Given the description of an element on the screen output the (x, y) to click on. 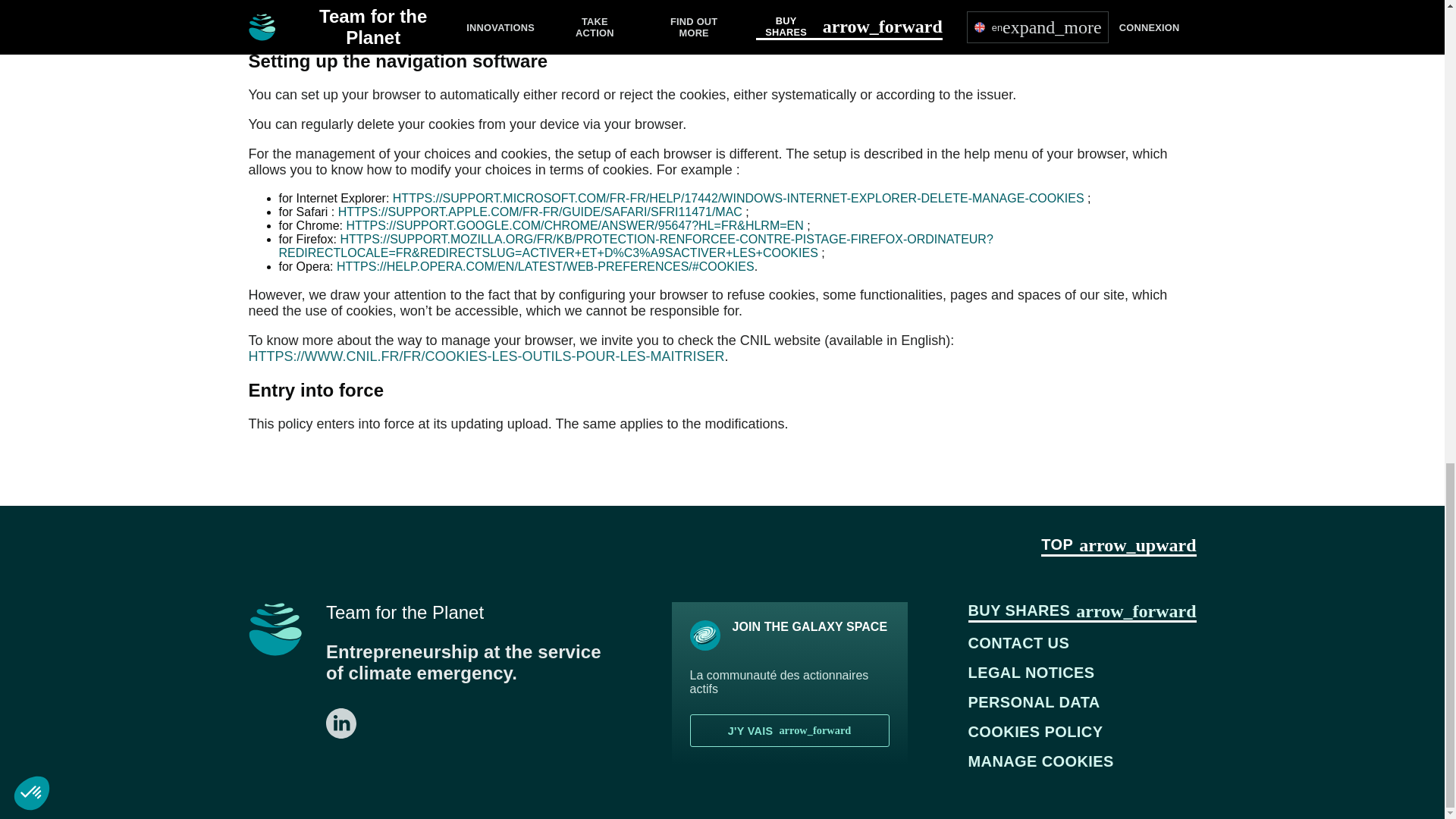
translation missing: en.Cookies policy (1035, 732)
translation missing: en.Legal notices (1031, 672)
translation missing: en.Personal data (1034, 702)
